Given the description of an element on the screen output the (x, y) to click on. 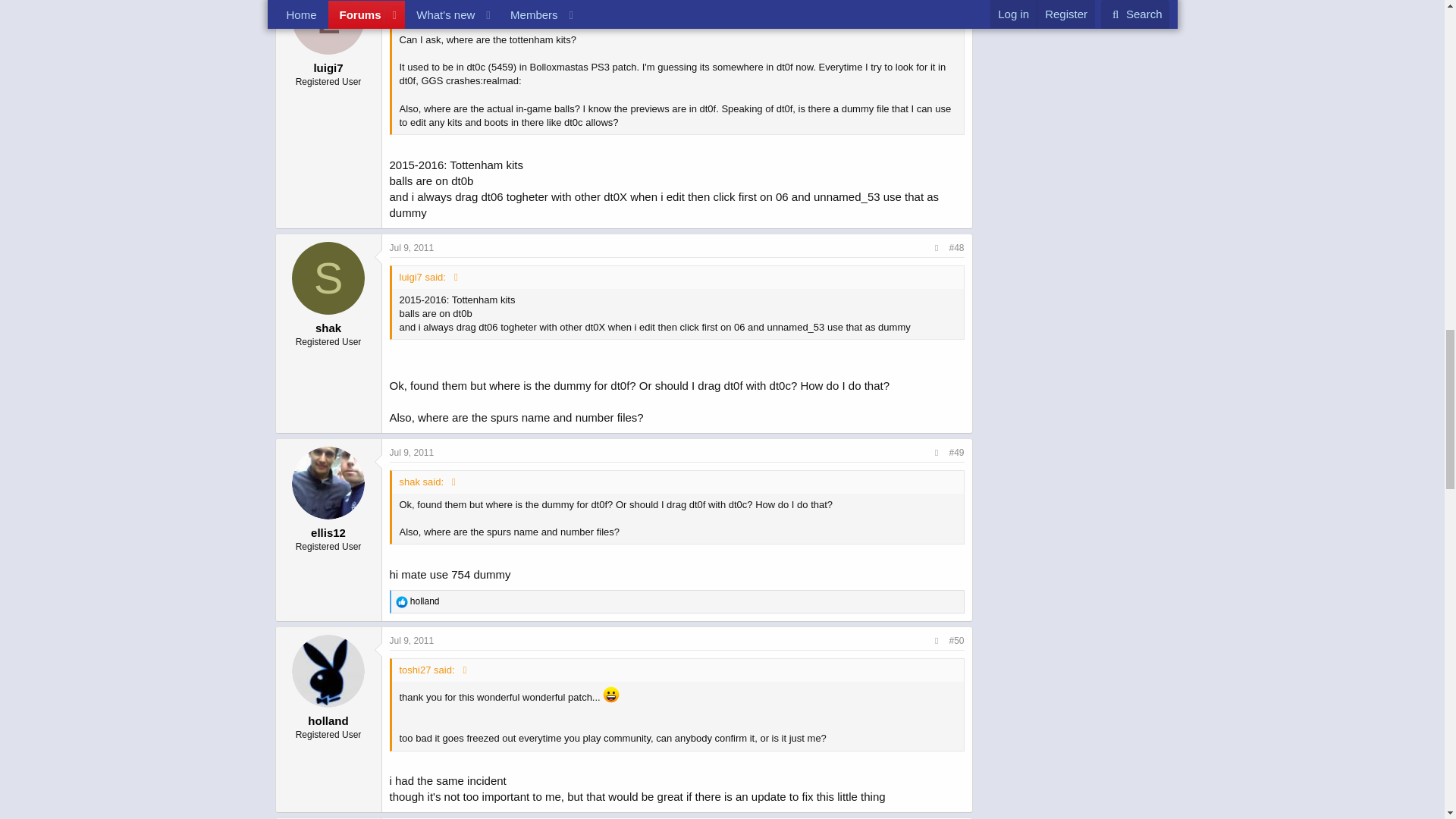
Jul 9, 2011 at 11:33 AM (411, 247)
Jul 9, 2011 at 1:57 PM (411, 640)
Jul 9, 2011 at 12:46 PM (411, 452)
Like (401, 602)
